Given the description of an element on the screen output the (x, y) to click on. 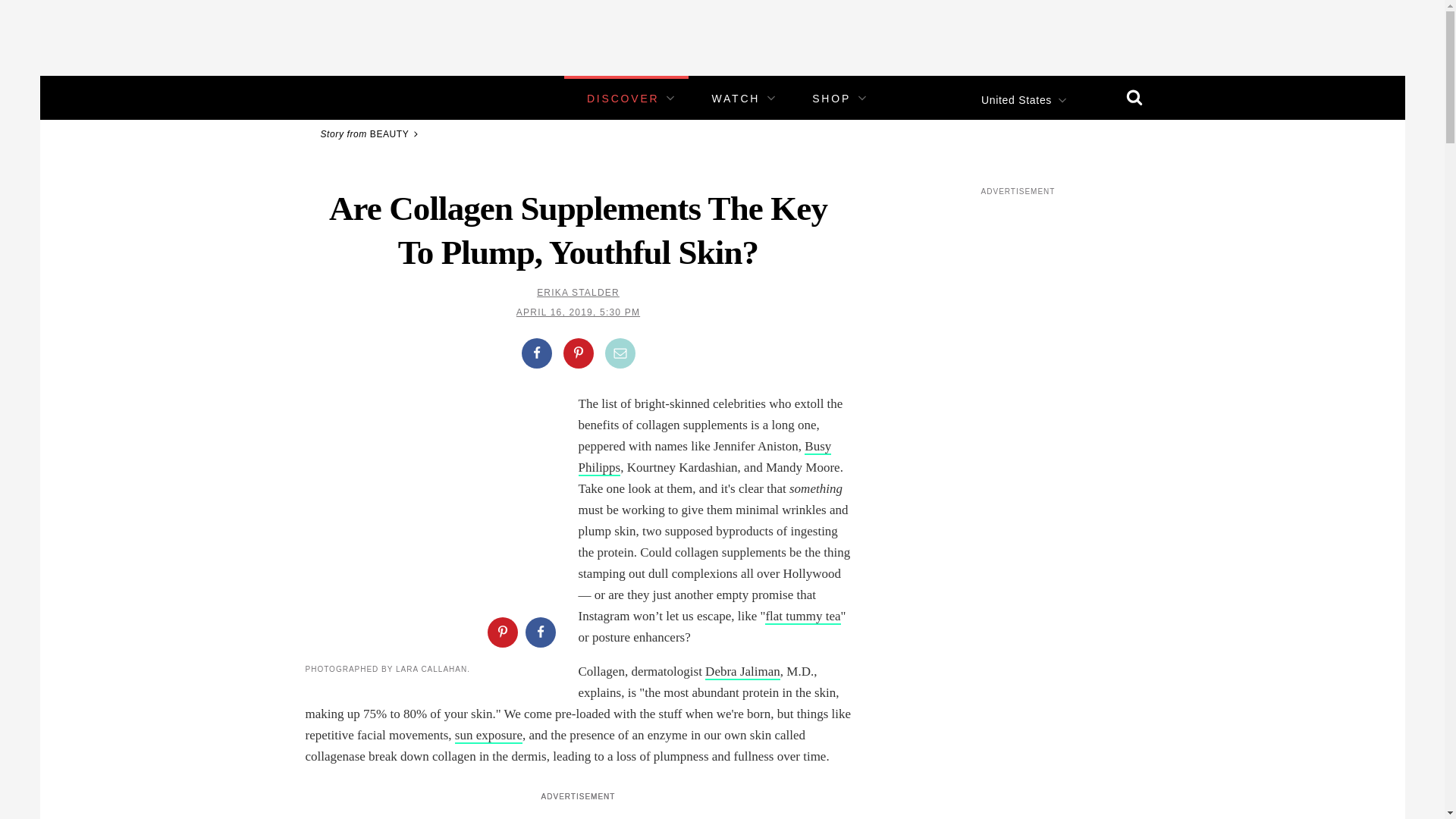
Refinery29 (352, 97)
SHOP (831, 98)
DISCOVER (622, 98)
WATCH (735, 98)
Story from BEAUTY (371, 133)
flat tummy tea (802, 616)
sun exposure (488, 735)
Busy Philipps (704, 456)
Share on Pinterest (501, 632)
ERIKA STALDER (578, 292)
